Given the description of an element on the screen output the (x, y) to click on. 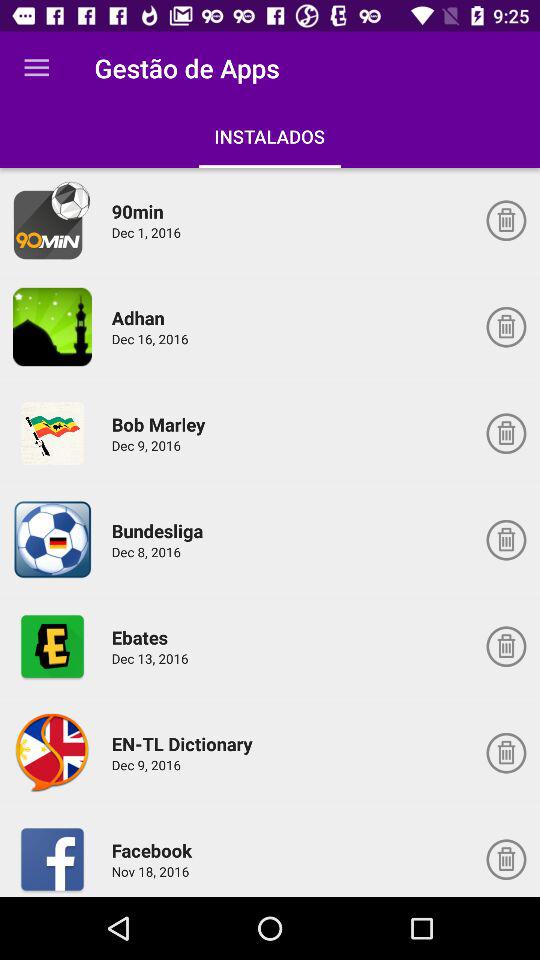
open the en-tl dictionary item (185, 743)
